Given the description of an element on the screen output the (x, y) to click on. 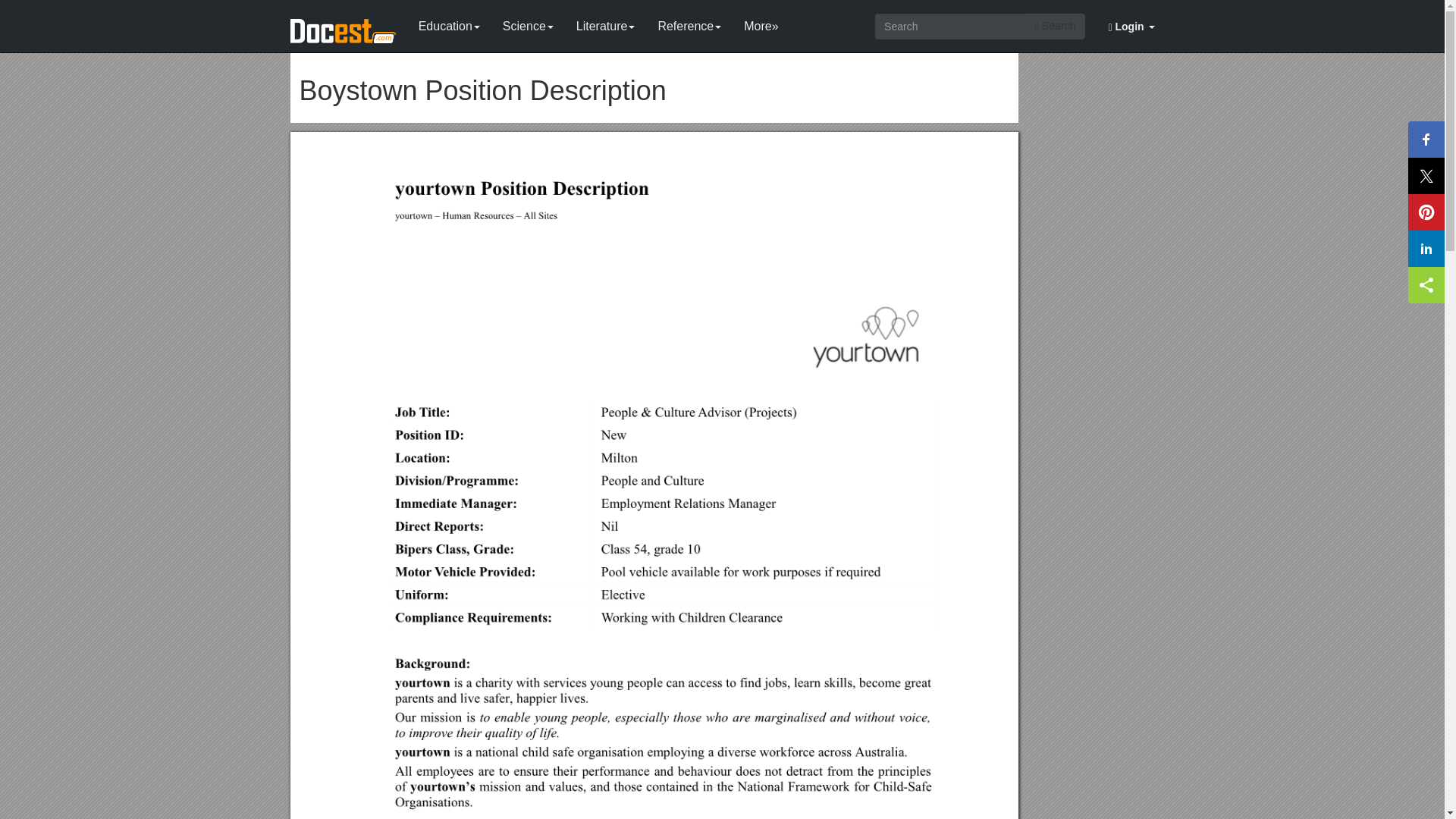
Education (449, 22)
Science (528, 22)
Literature (605, 22)
Reference (689, 22)
